Given the description of an element on the screen output the (x, y) to click on. 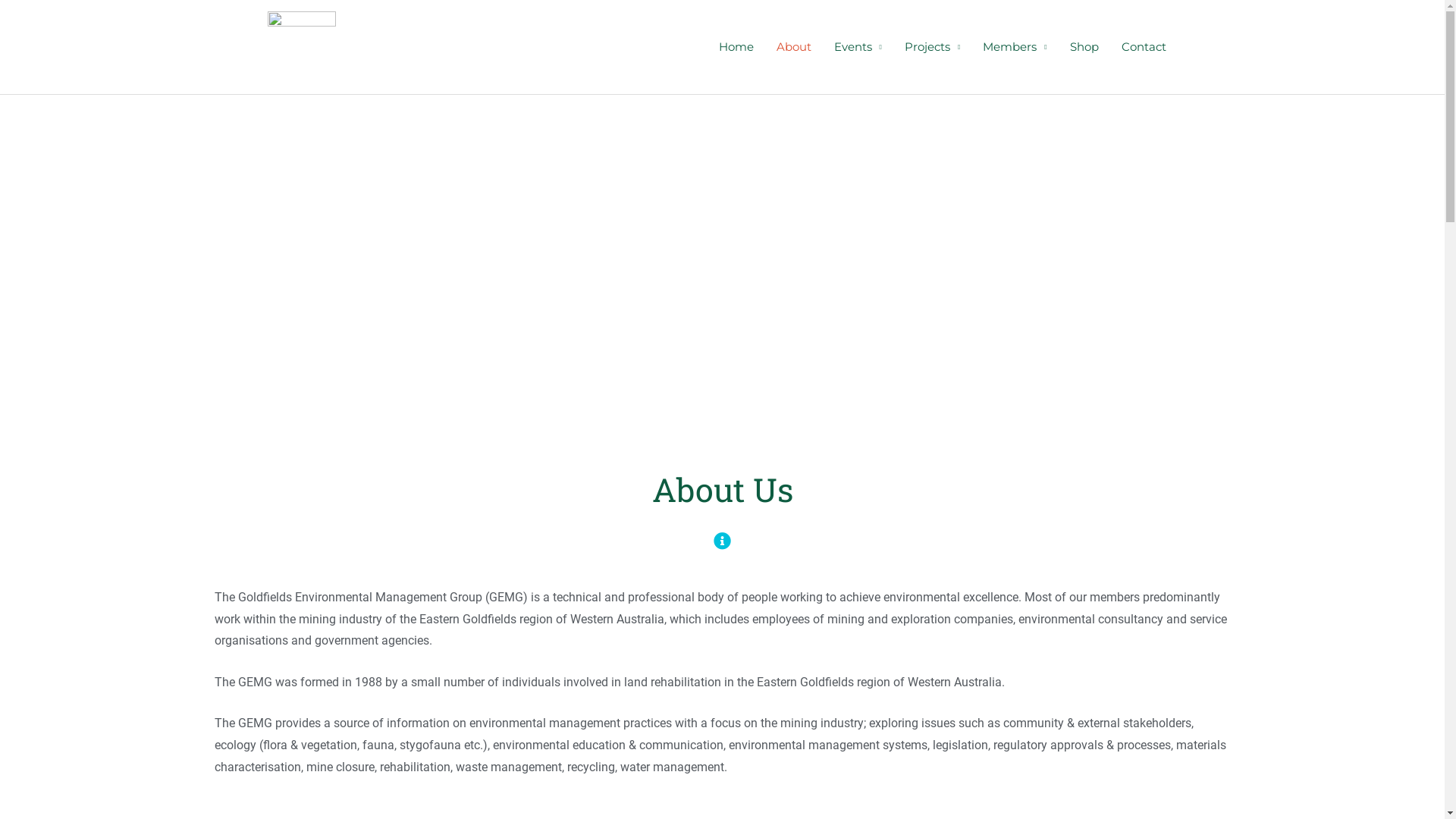
Shop Element type: text (1084, 47)
About Element type: text (793, 47)
Home Element type: text (736, 47)
Projects Element type: text (932, 47)
Events Element type: text (857, 47)
Contact Element type: text (1143, 47)
Members Element type: text (1014, 47)
